Given the description of an element on the screen output the (x, y) to click on. 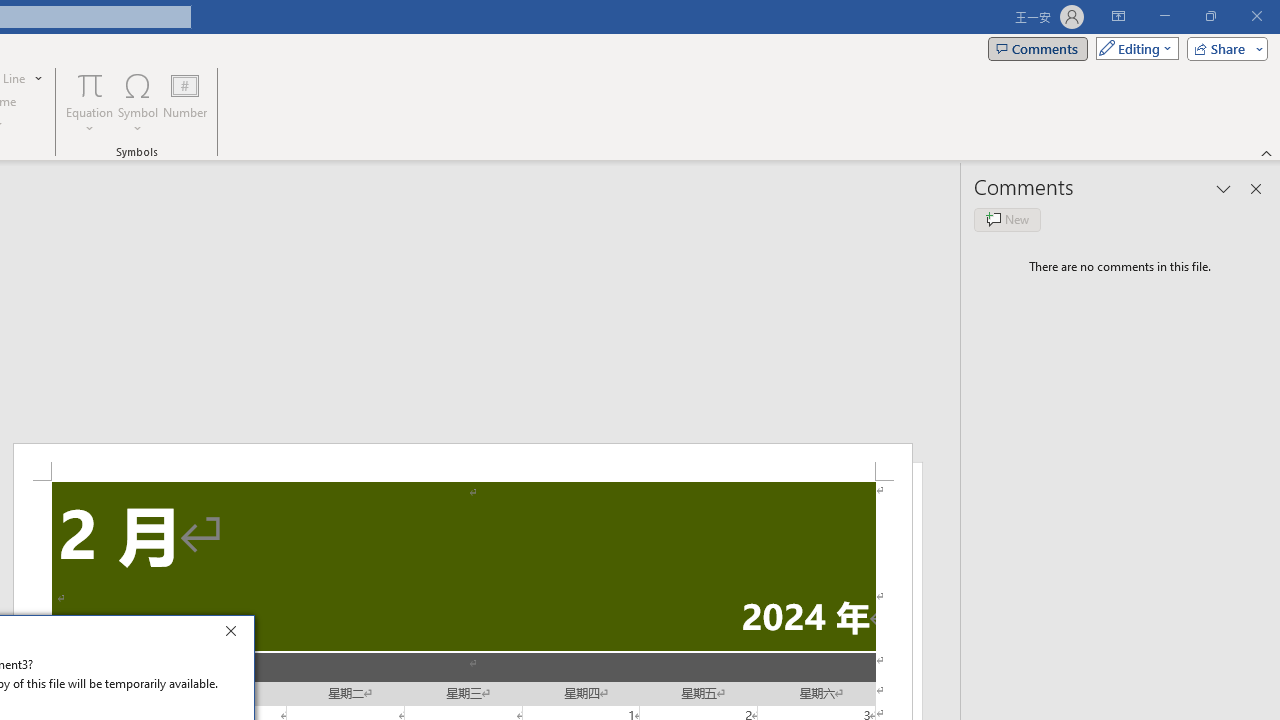
Equation (90, 102)
Equation (90, 84)
Symbol (138, 102)
New comment (1007, 219)
Mode (1133, 47)
